Given the description of an element on the screen output the (x, y) to click on. 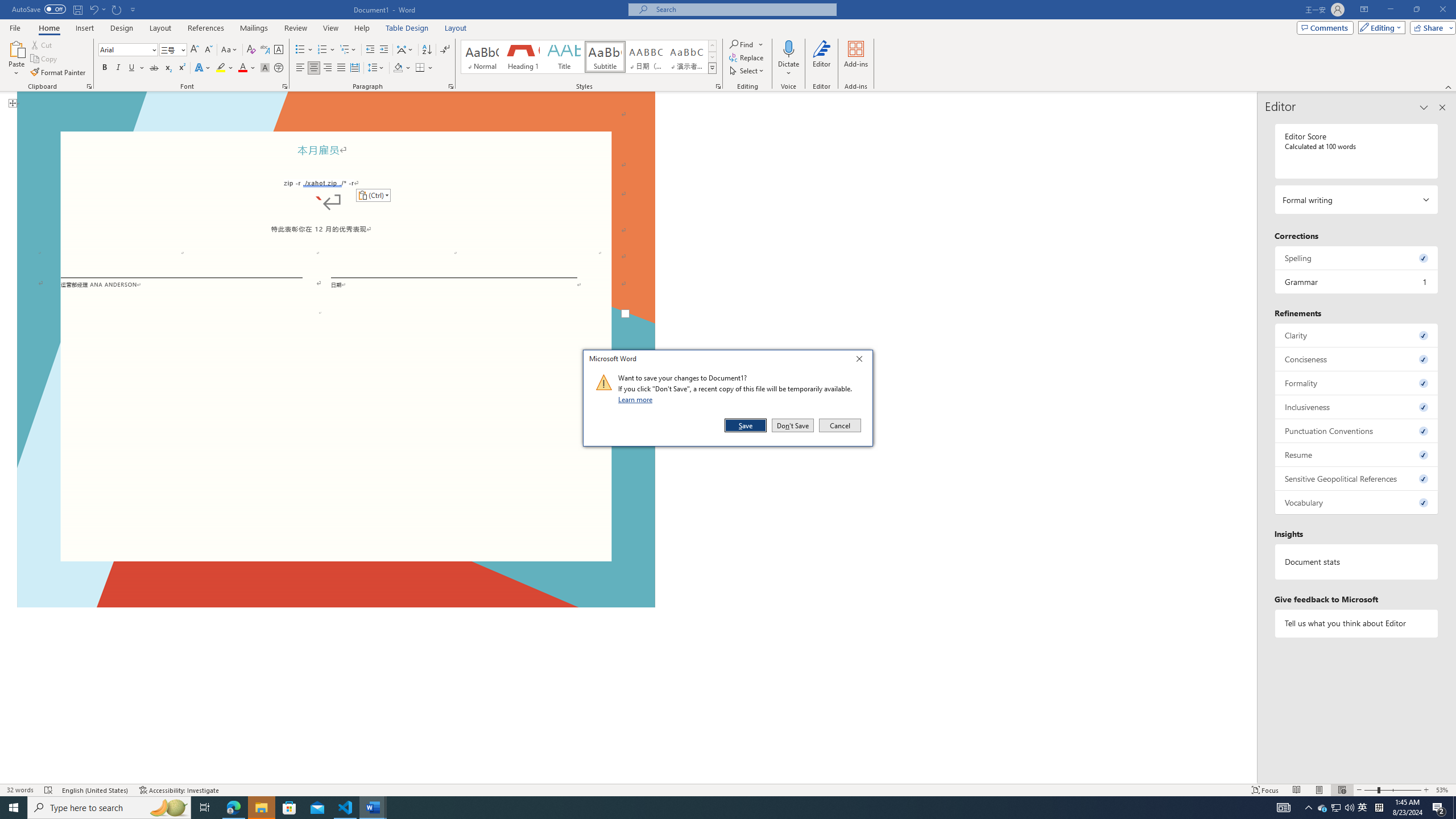
References (205, 28)
Paste (16, 58)
Action: Paste alternatives (373, 195)
Document statistics (1356, 561)
Borders (419, 67)
AutoSave (38, 9)
View (330, 28)
File Tab (15, 27)
Ribbon Display Options (1364, 9)
Zoom 53% (1443, 790)
Print Layout (1318, 790)
Styles (711, 67)
Undo Paste (92, 9)
Cancel (839, 425)
Row up (711, 45)
